Given the description of an element on the screen output the (x, y) to click on. 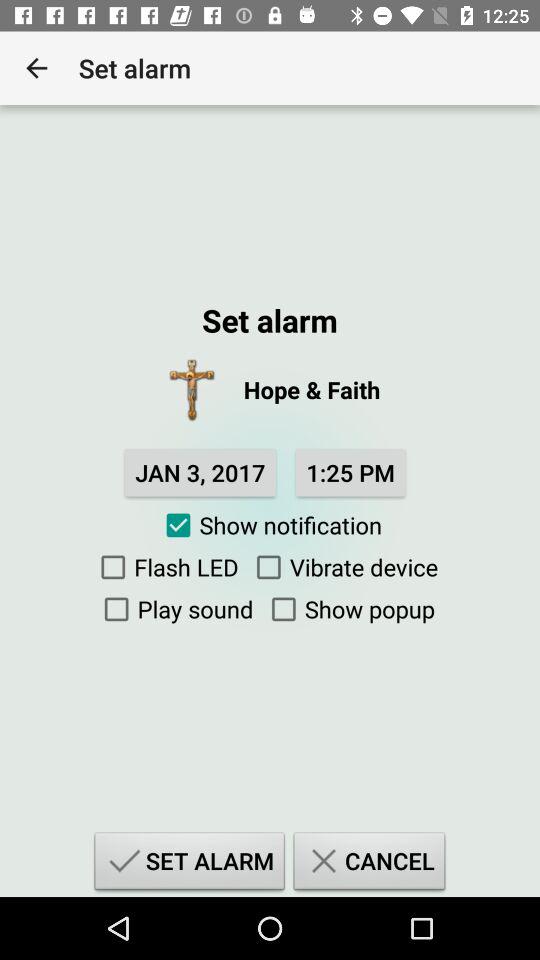
turn on item to the right of jan 3, 2017 icon (350, 472)
